Given the description of an element on the screen output the (x, y) to click on. 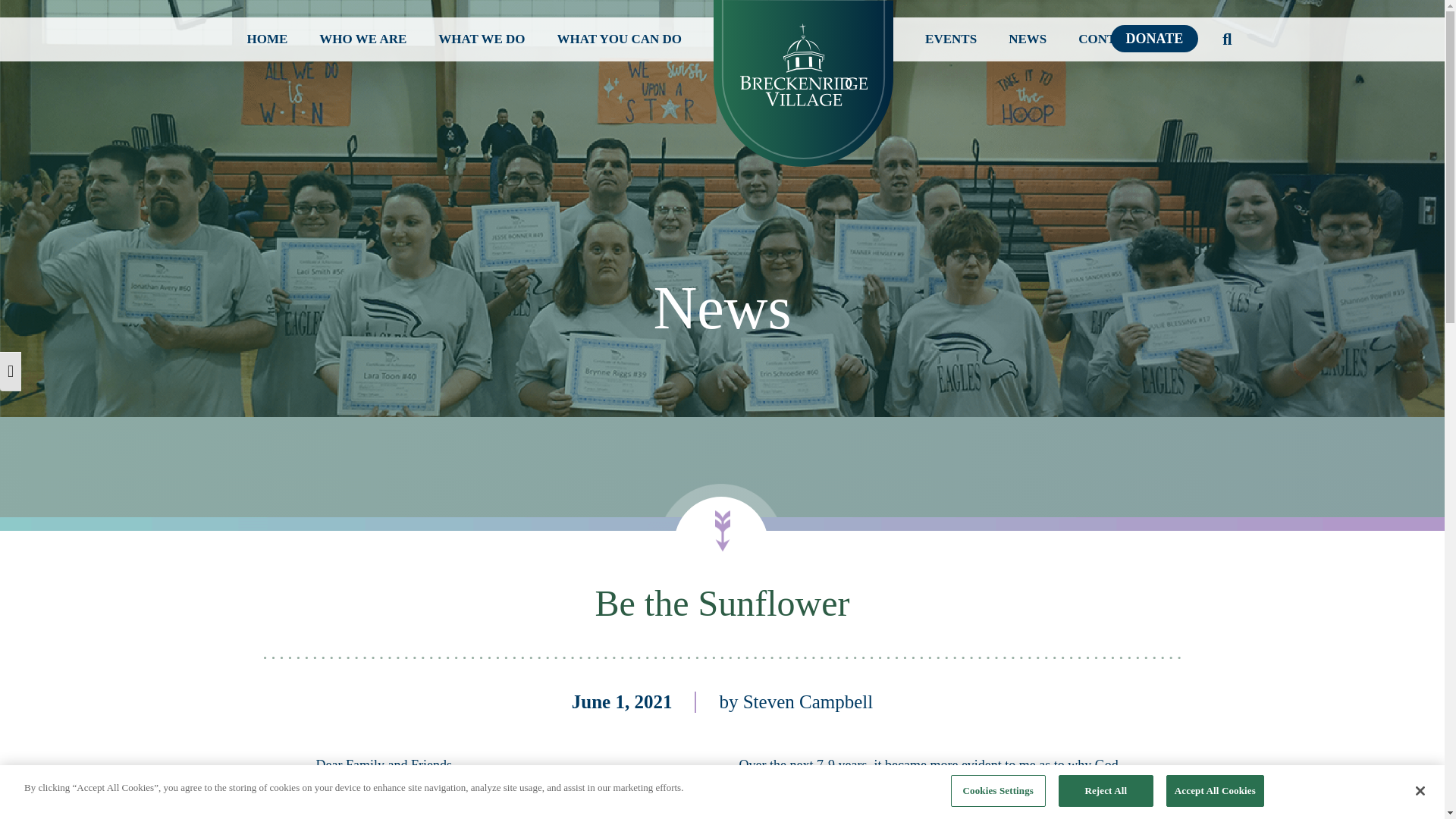
Accept All Cookies (1214, 790)
DONATE (1152, 38)
WHAT WE DO (481, 39)
CONTACT (1109, 39)
Steven Campbell (807, 701)
WHO WE ARE (362, 39)
EVENTS (950, 39)
Reject All (1105, 790)
June 1, 2021 (622, 701)
Cookies Settings (997, 790)
